Given the description of an element on the screen output the (x, y) to click on. 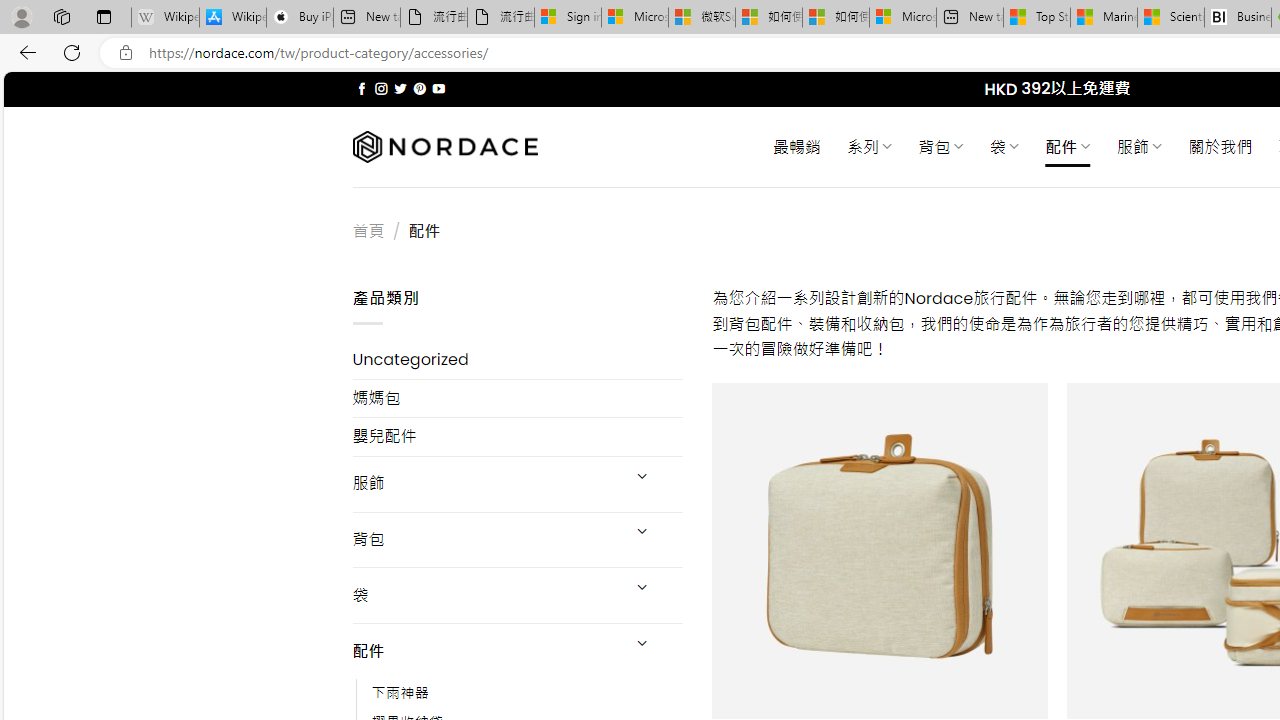
Top Stories - MSN (1036, 17)
Buy iPad - Apple (299, 17)
Marine life - MSN (1103, 17)
